Given the description of an element on the screen output the (x, y) to click on. 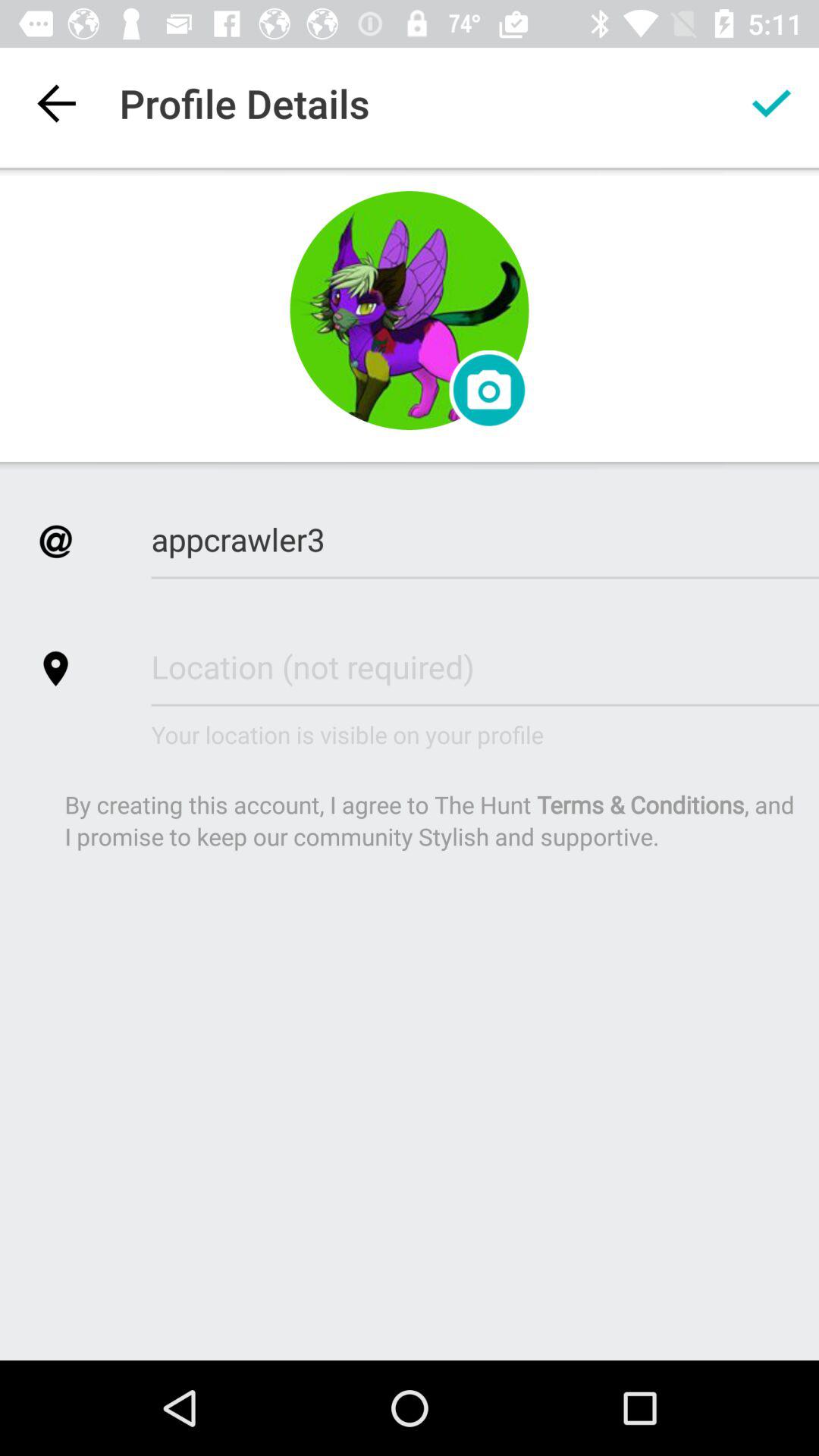
tap the app next to the profile details item (771, 103)
